Given the description of an element on the screen output the (x, y) to click on. 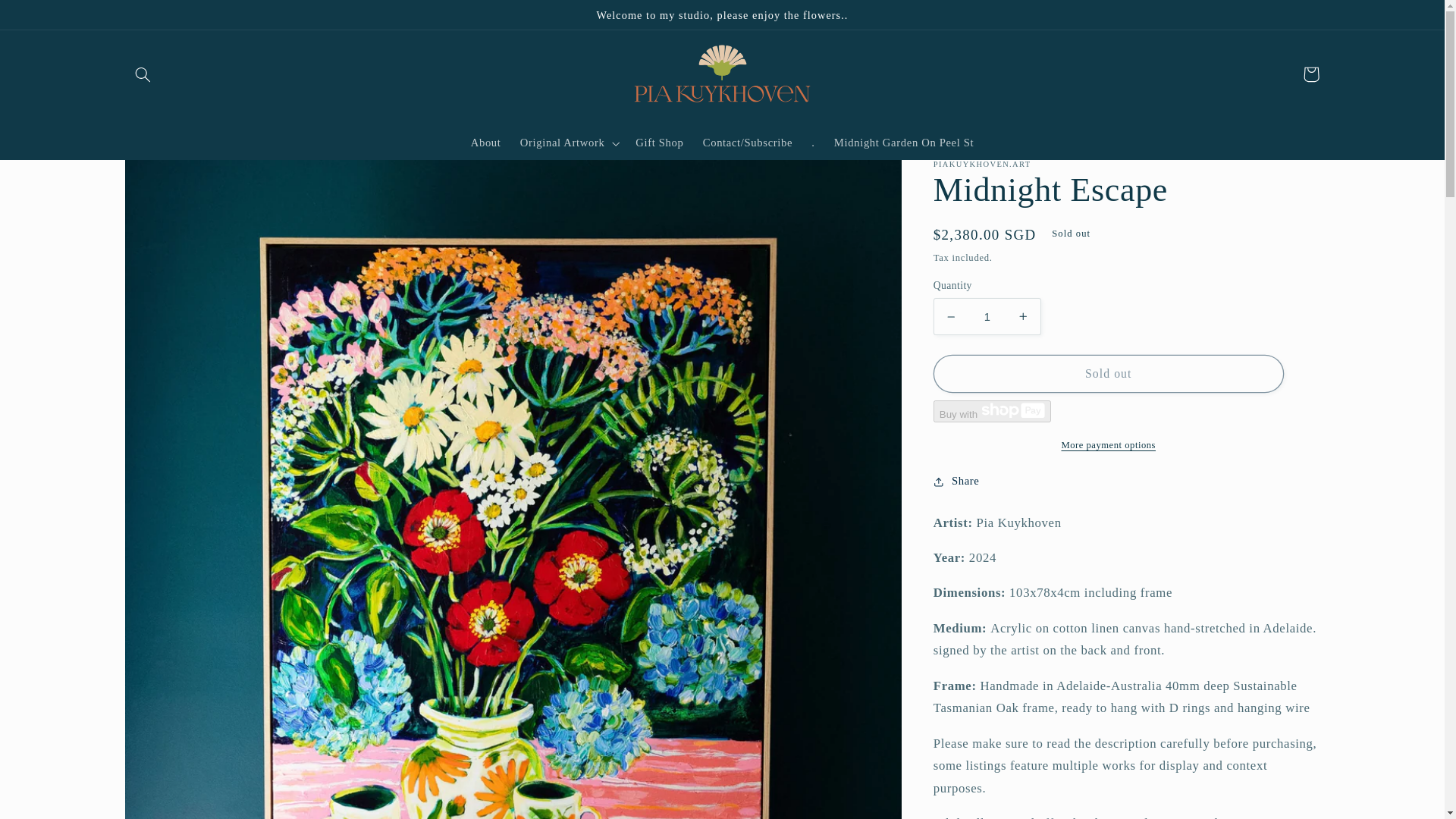
About (486, 142)
Cart (1310, 73)
Gift Shop (659, 142)
Midnight Garden On Peel St (904, 142)
Skip to content (48, 18)
1 (987, 316)
Skip to product information (172, 177)
